Given the description of an element on the screen output the (x, y) to click on. 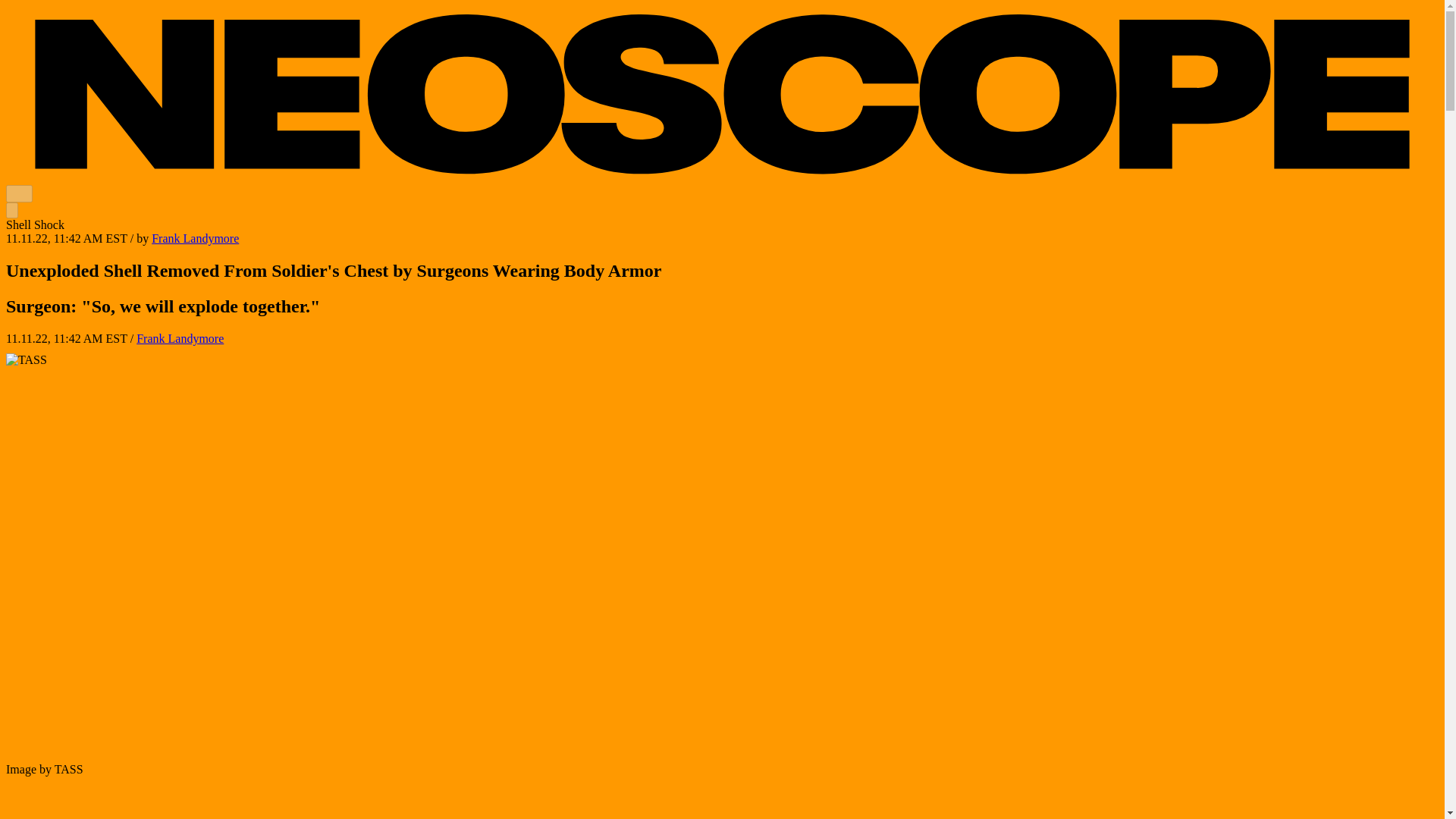
Frank Landymore (194, 237)
Frank Landymore (180, 338)
Frank Landymore (180, 338)
Frank Landymore (194, 237)
